Given the description of an element on the screen output the (x, y) to click on. 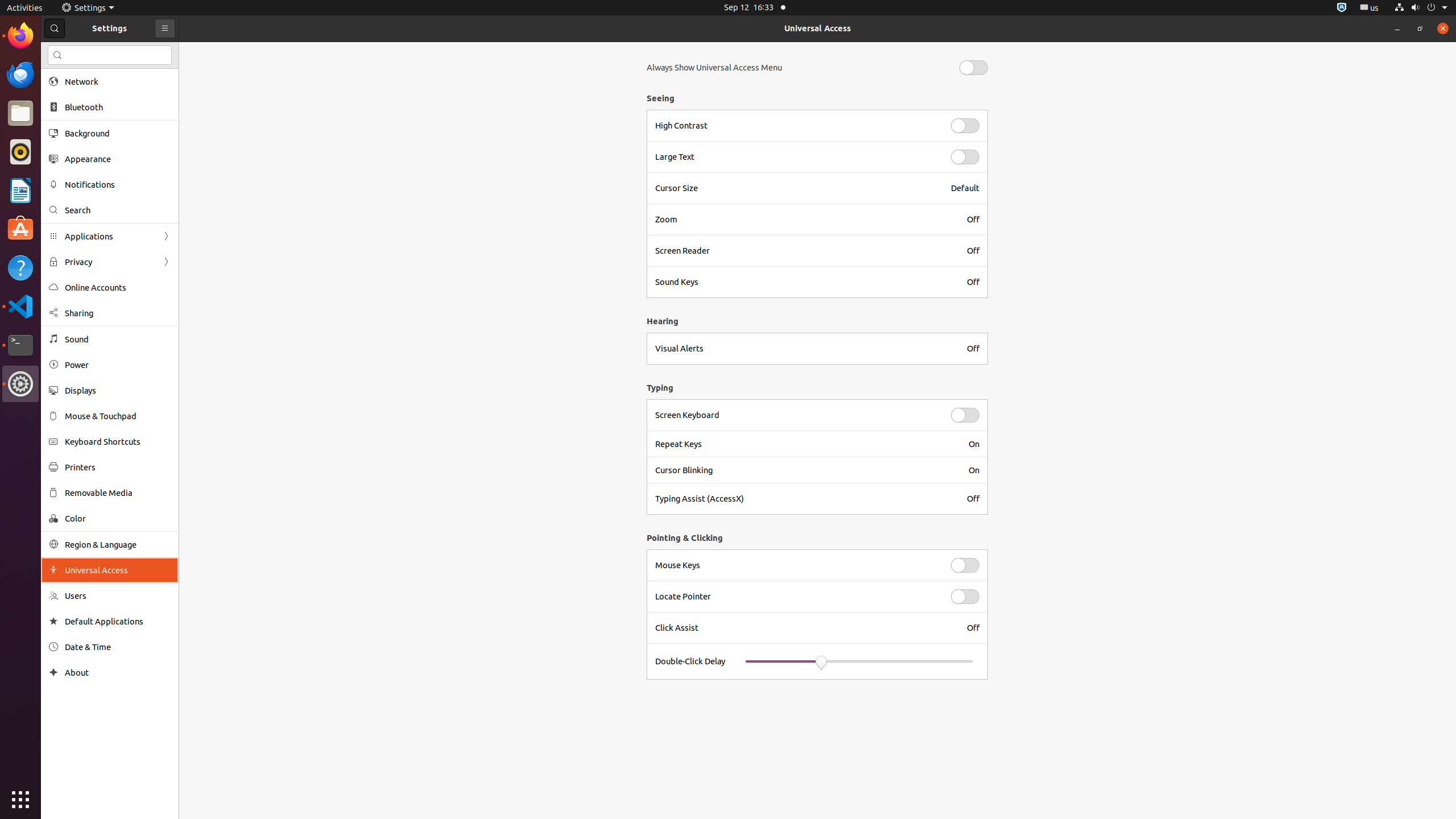
Cursor Blinking Element type: label (804, 469)
Bluetooth Element type: label (117, 107)
Appearance Element type: label (117, 158)
Pointing & Clicking Element type: label (813, 537)
